Given the description of an element on the screen output the (x, y) to click on. 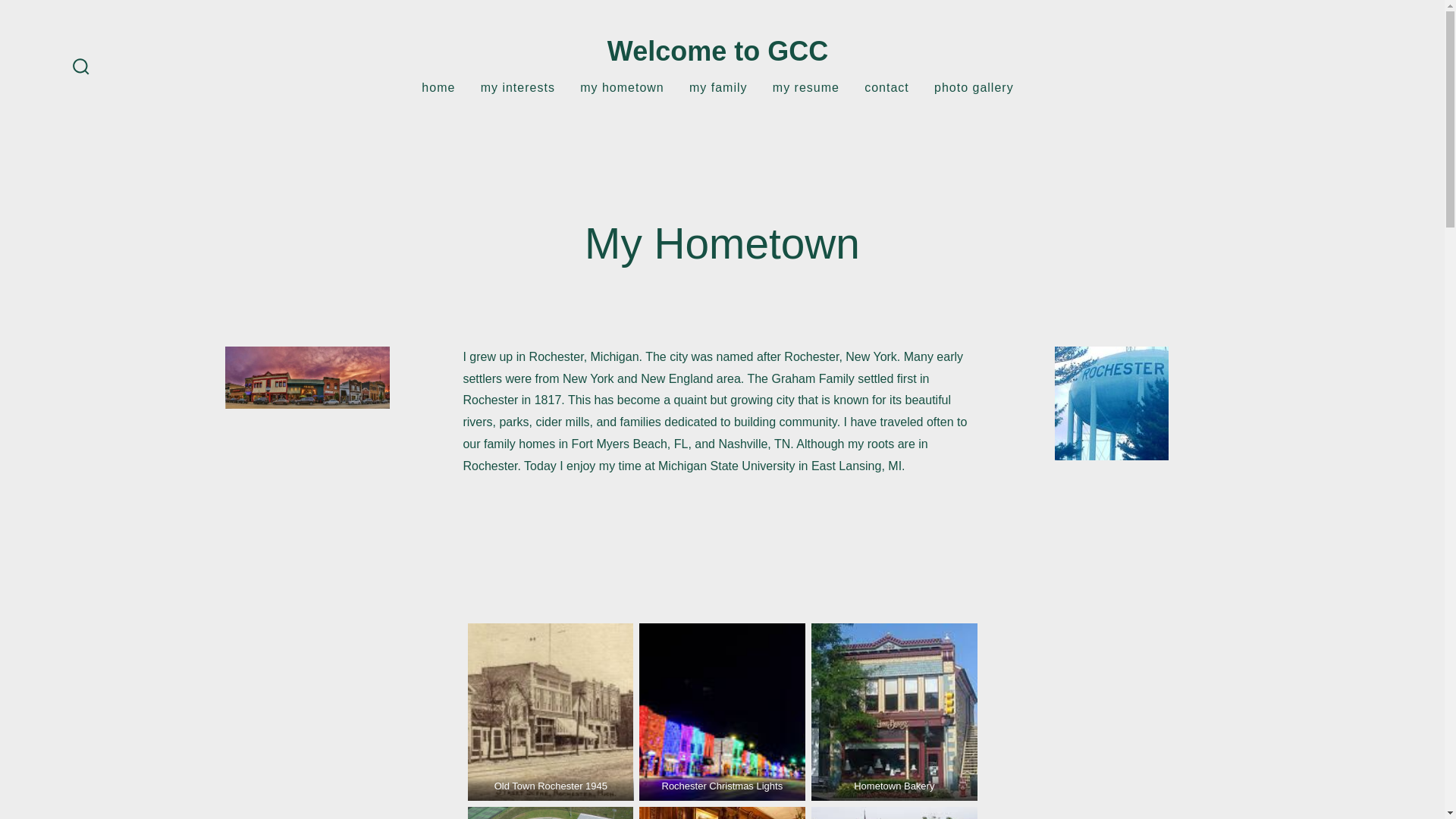
contact (886, 87)
my interests (517, 87)
Welcome to GCC (717, 51)
my resume (806, 87)
my family (718, 87)
home (438, 87)
search toggle (81, 67)
photo gallery (973, 87)
my hometown (621, 87)
